Given the description of an element on the screen output the (x, y) to click on. 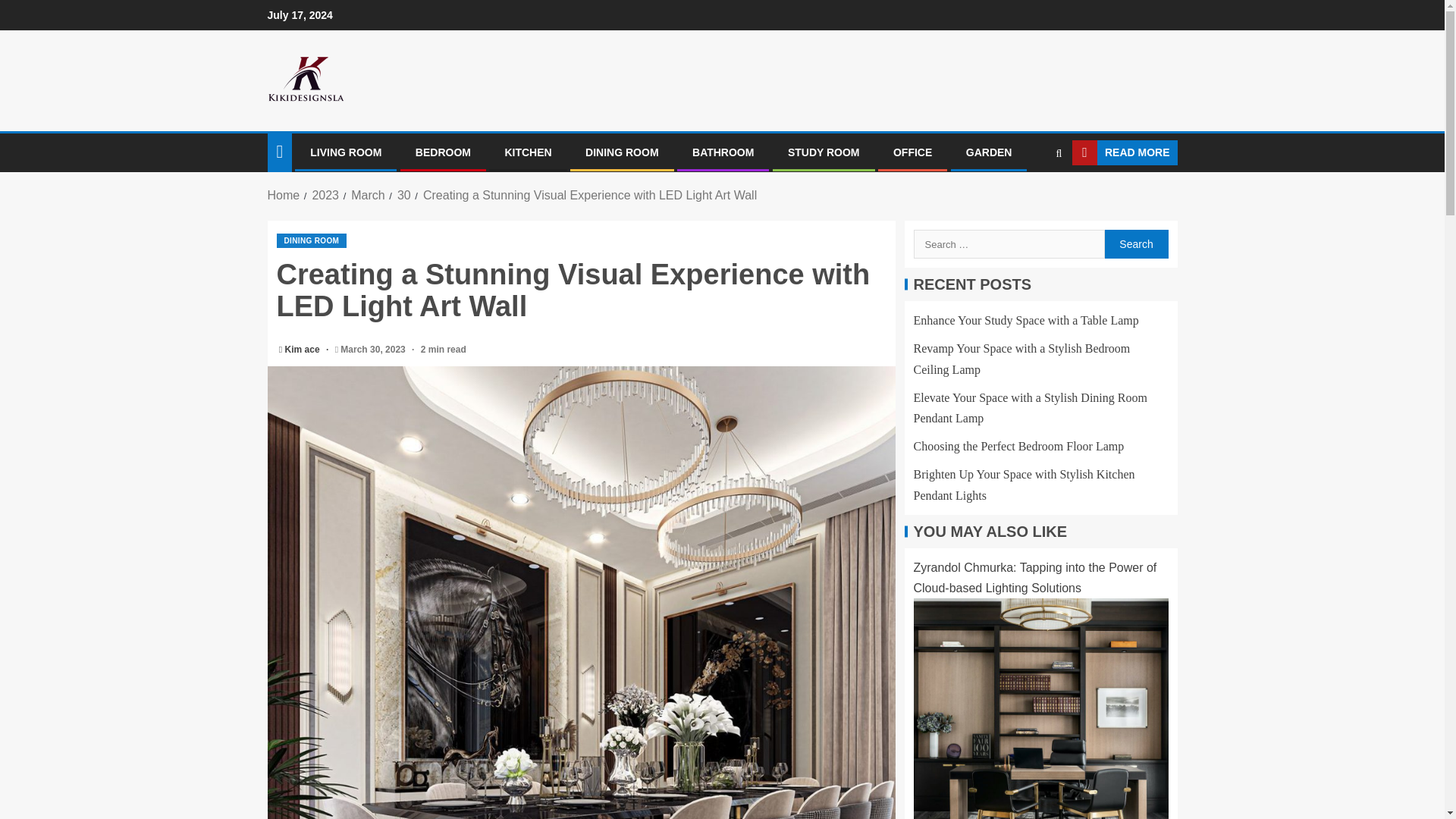
Search (1029, 198)
BATHROOM (723, 152)
Home (282, 195)
Kim ace (303, 348)
Search (1135, 244)
OFFICE (912, 152)
KITCHEN (527, 152)
30 (403, 195)
2023 (325, 195)
READ MORE (1124, 153)
March (367, 195)
BEDROOM (442, 152)
DINING ROOM (311, 240)
DINING ROOM (621, 152)
